Given the description of an element on the screen output the (x, y) to click on. 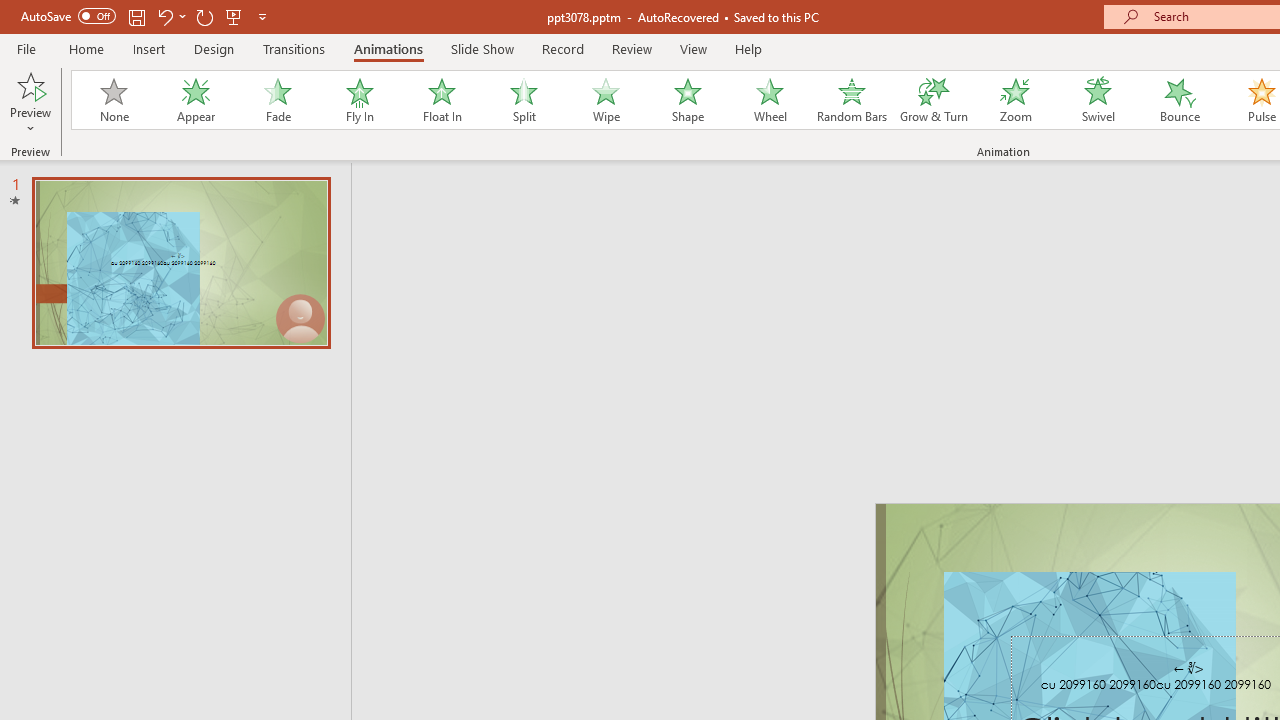
Wipe (605, 100)
TextBox 7 (1188, 668)
